Given the description of an element on the screen output the (x, y) to click on. 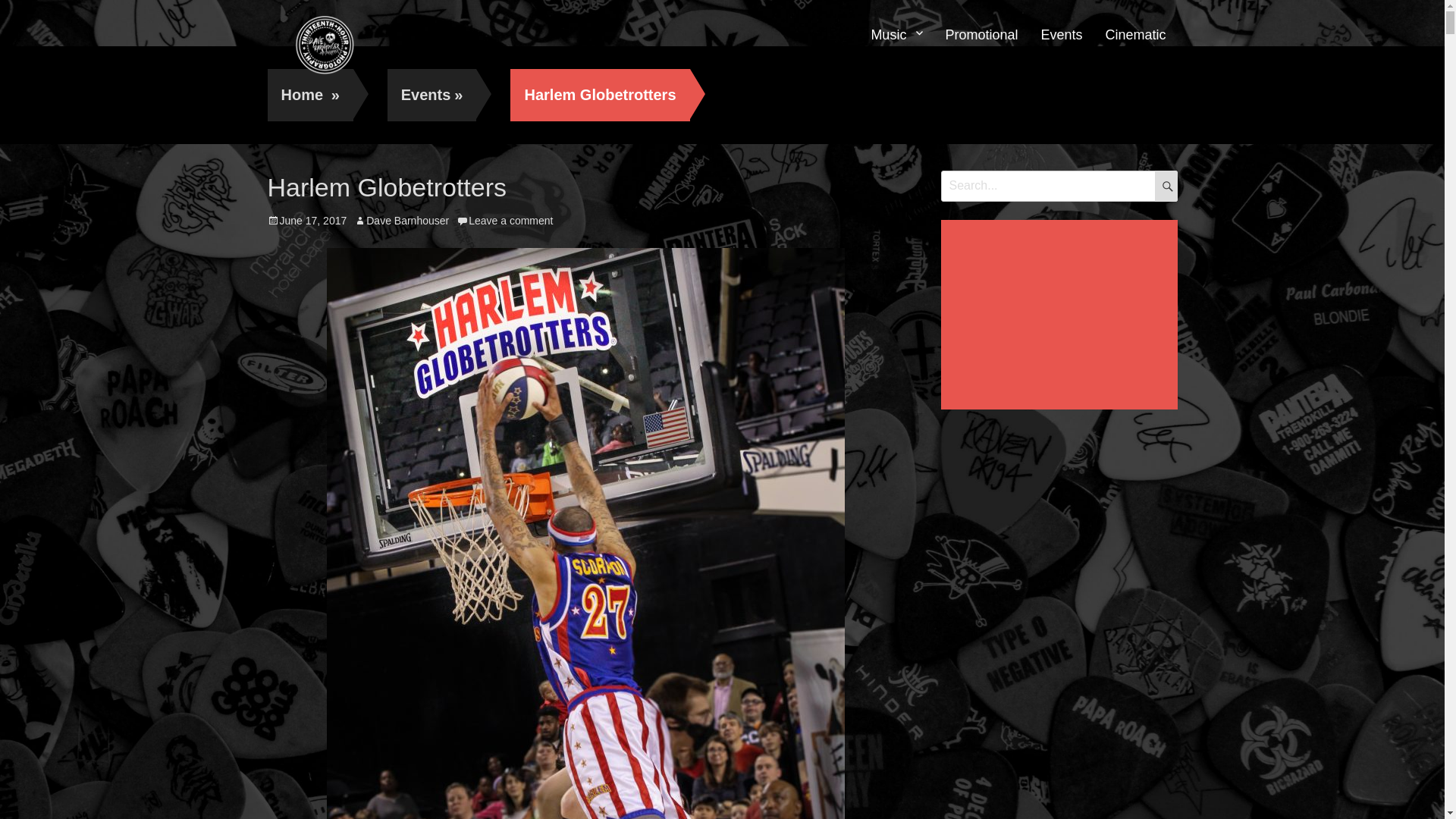
Advertisement Element type: hover (1061, 316)
June 17, 2017 Element type: text (306, 220)
SEARCH Element type: text (1165, 185)
Music Element type: text (896, 35)
Events Element type: text (1061, 35)
Promotional Element type: text (981, 35)
Dave Barnhouser Element type: text (401, 220)
Leave a comment Element type: text (504, 220)
Cinematic Element type: text (1134, 35)
Search for: Element type: hover (1058, 185)
